Given the description of an element on the screen output the (x, y) to click on. 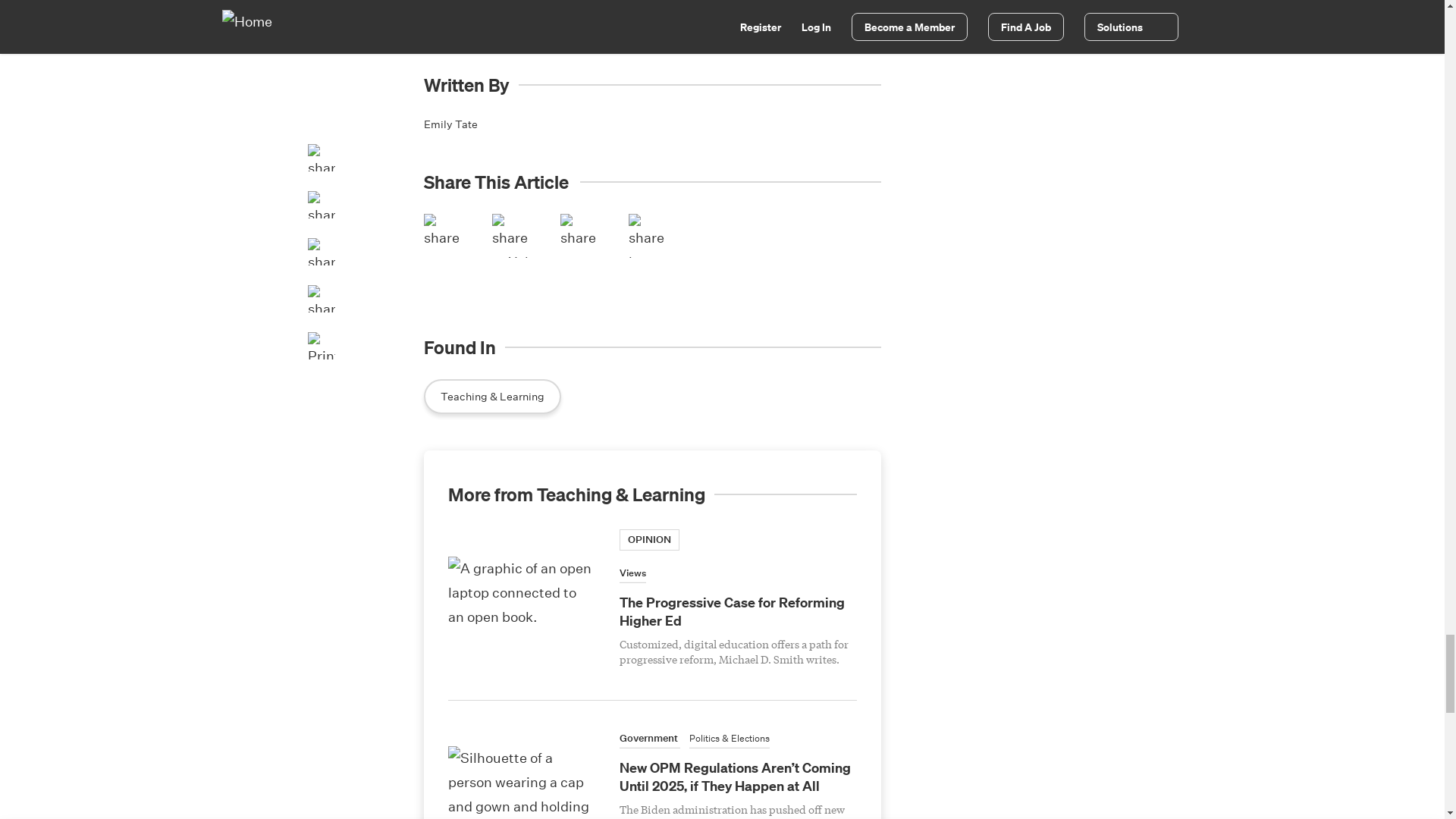
share to facebook (445, 235)
